Given the description of an element on the screen output the (x, y) to click on. 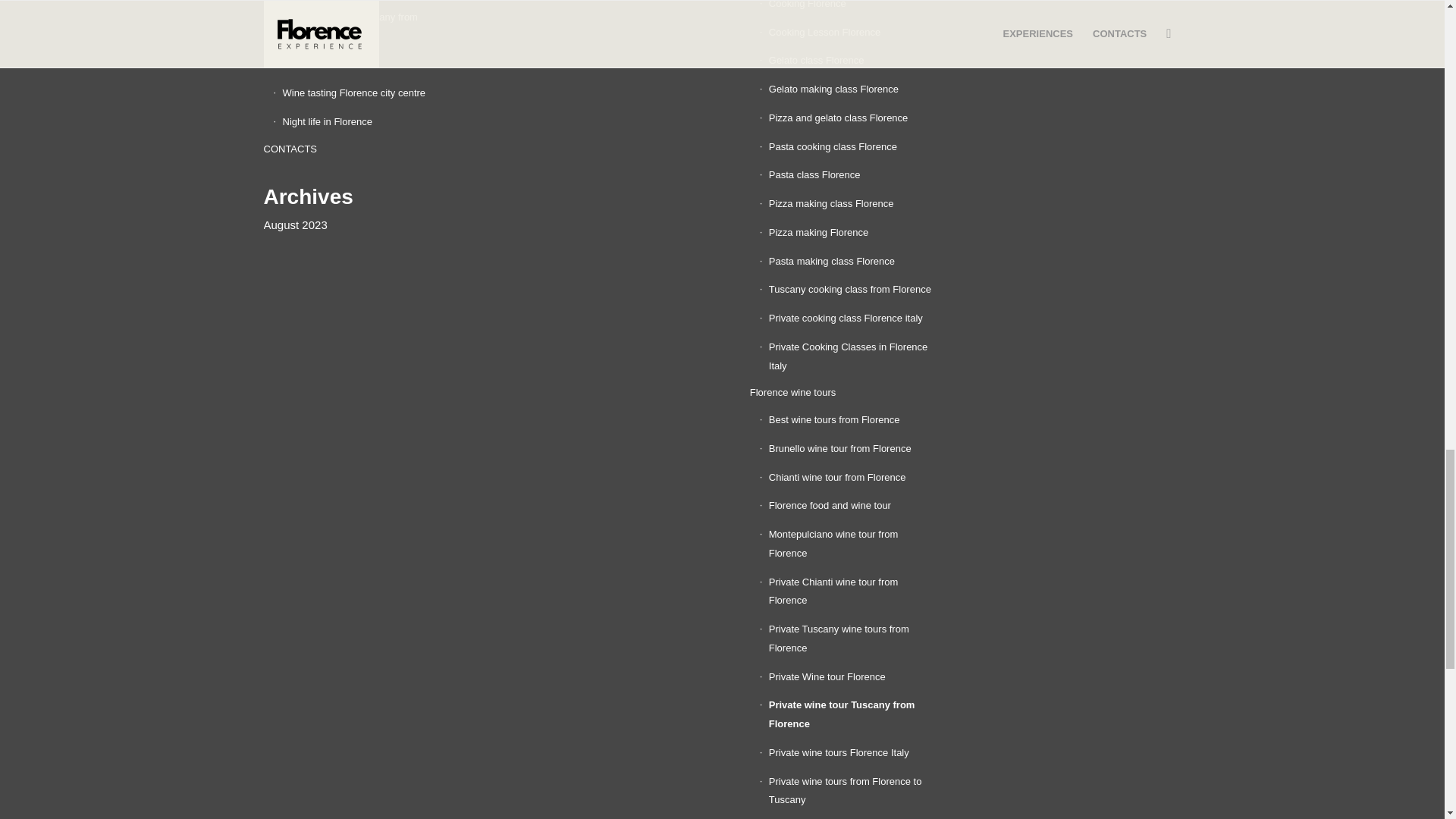
Self-Drive tour in Tuscany from Florence (362, 27)
Day trips from Florence (362, 2)
